Given the description of an element on the screen output the (x, y) to click on. 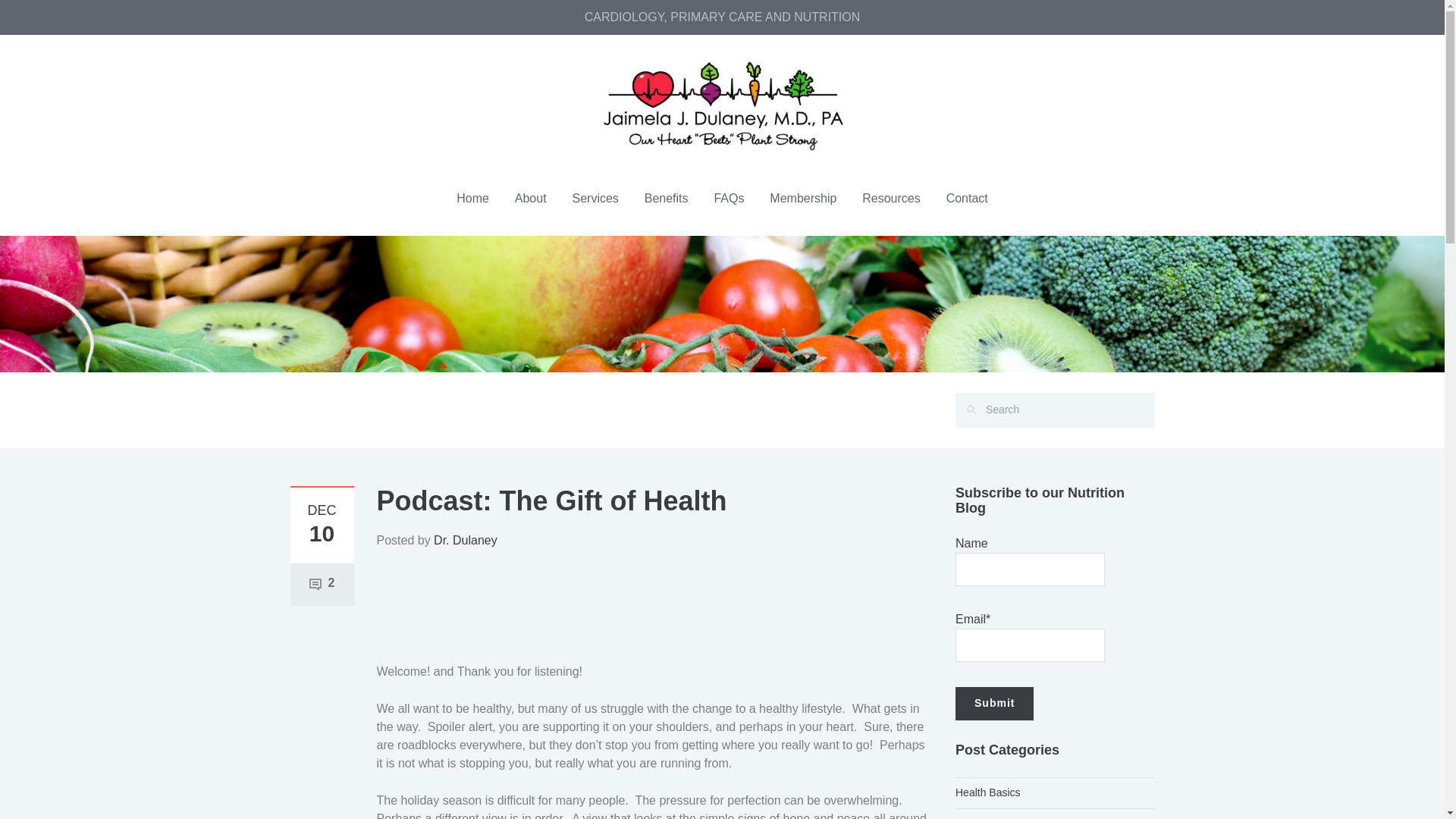
Membership (802, 197)
2 (321, 583)
Home (472, 197)
Dr. Dulaney (465, 540)
View all posts by Dr. Dulaney (465, 540)
Resources (890, 197)
FAQs (728, 197)
Submit (994, 703)
Contact (966, 197)
About (530, 197)
Services (594, 197)
Benefits (666, 197)
